Given the description of an element on the screen output the (x, y) to click on. 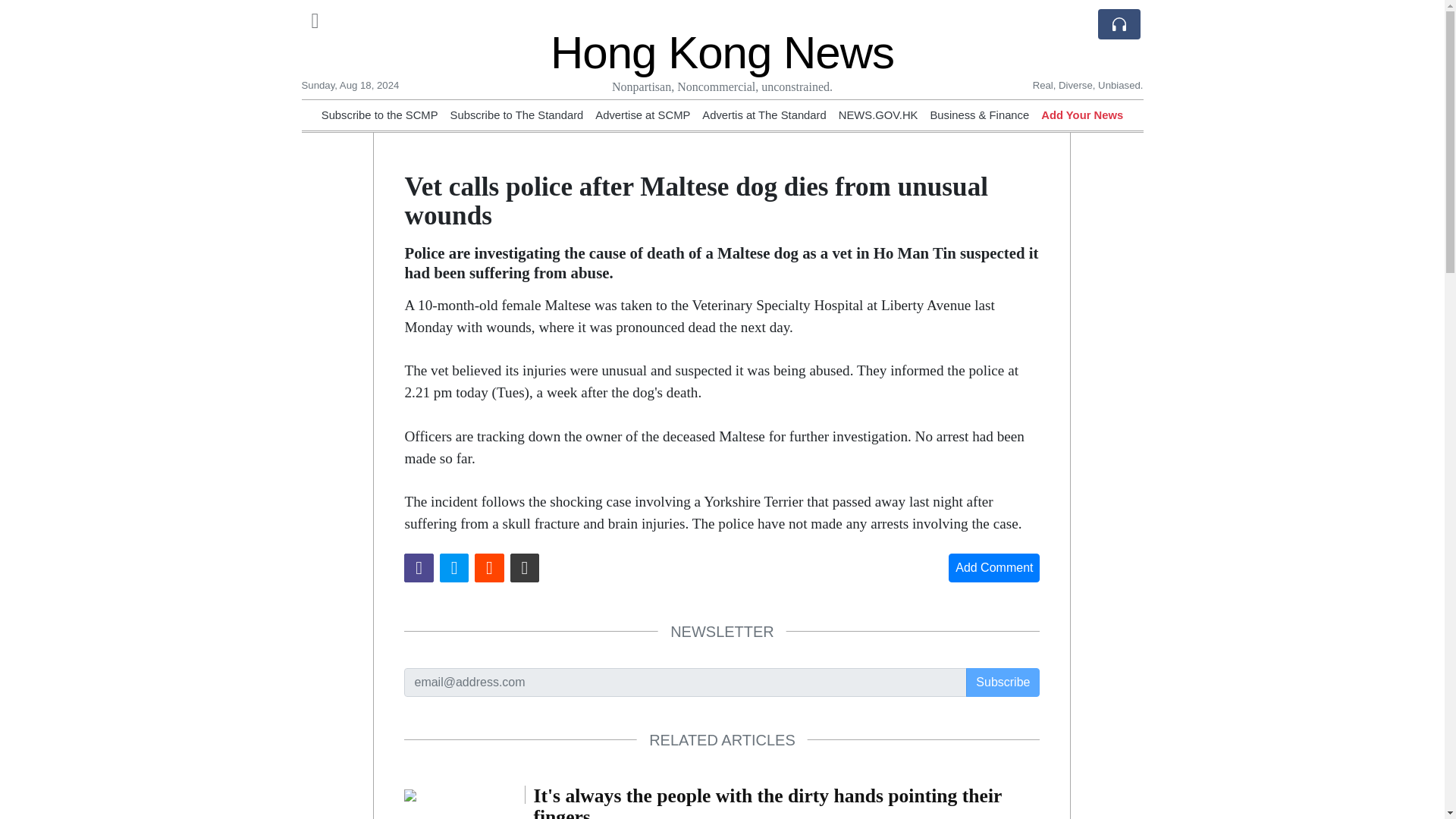
NEWS.GOV.HK (878, 114)
Add Comment (994, 567)
Advertise at SCMP (642, 114)
Subscribe to the SCMP (379, 114)
Advertis at The Standard (763, 114)
Subscribe (1002, 682)
Subscribe to The Standard (516, 114)
Add Your News (1081, 114)
